Given the description of an element on the screen output the (x, y) to click on. 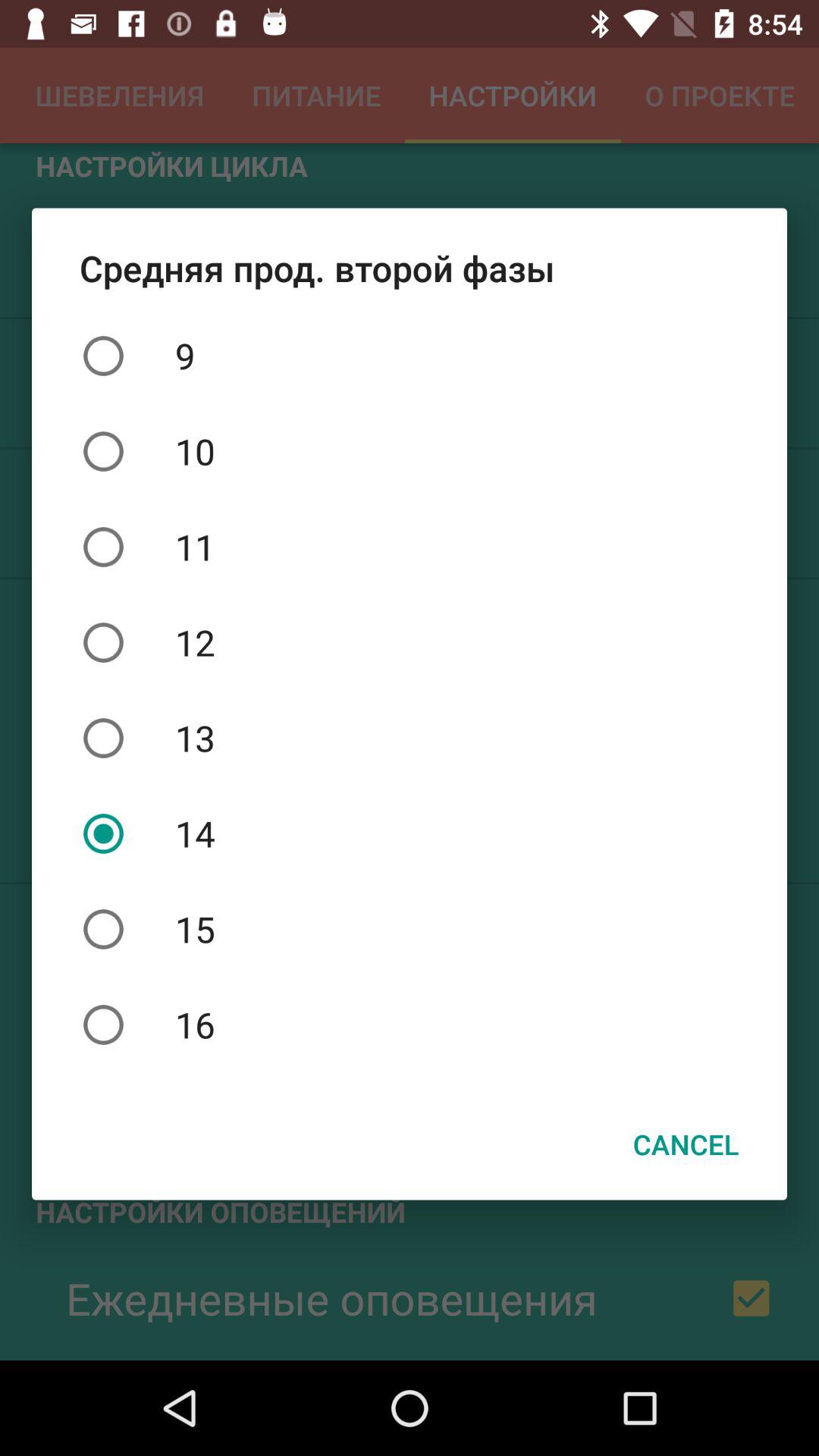
turn on the 14 icon (409, 833)
